Given the description of an element on the screen output the (x, y) to click on. 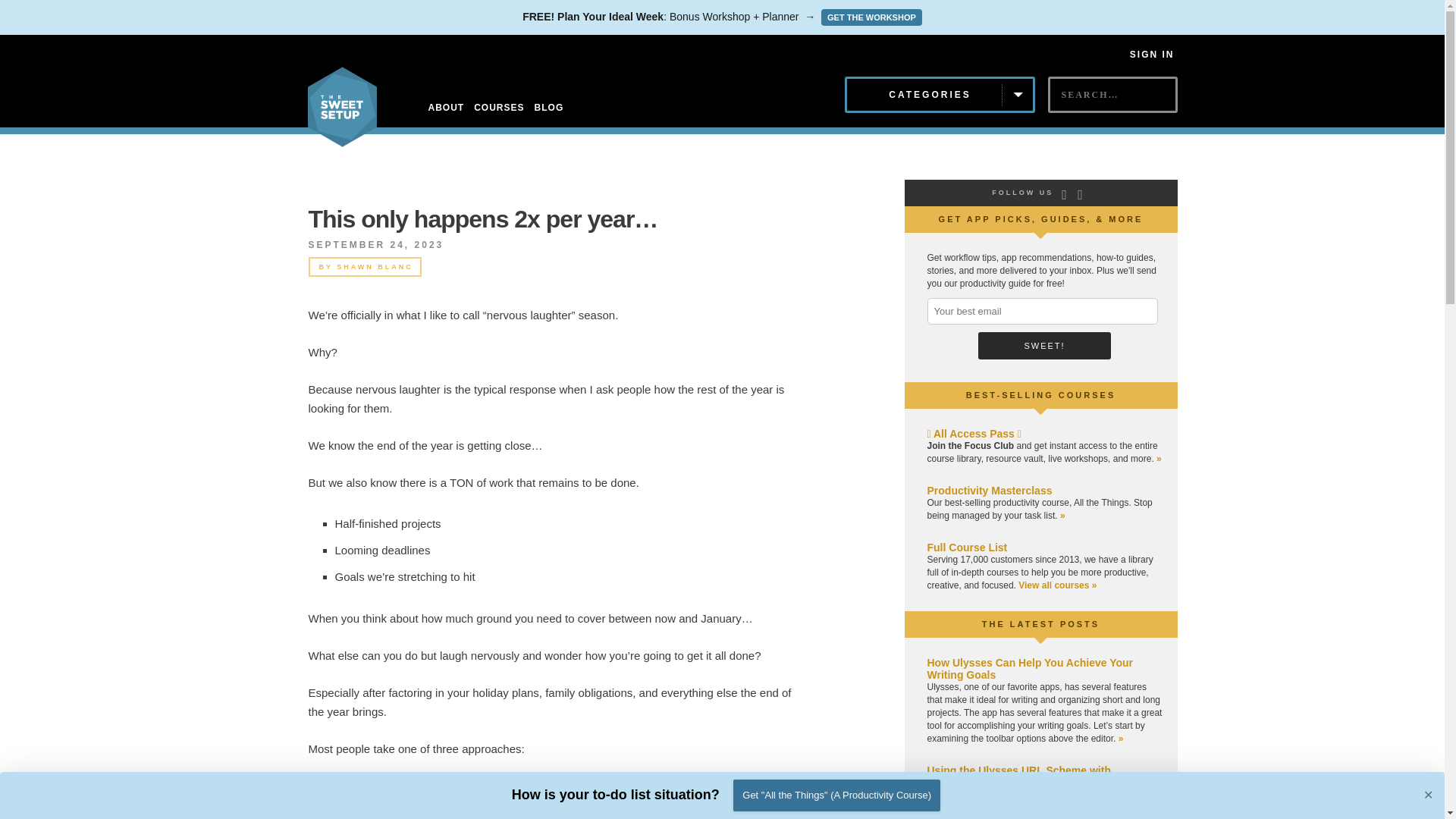
BEST-SELLING COURSES (1041, 394)
Sweet! (1044, 345)
Go (1061, 120)
SHAWN BLANC (374, 266)
Full Course List (966, 547)
Sweet! (1044, 345)
COURSES (499, 107)
Productivity Masterclass (988, 490)
GET THE WORKSHOP (871, 17)
CATEGORIES (939, 94)
ABOUT (446, 107)
BLOG (549, 107)
THE LATEST POSTS (1040, 623)
SIGN IN (1151, 53)
